Given the description of an element on the screen output the (x, y) to click on. 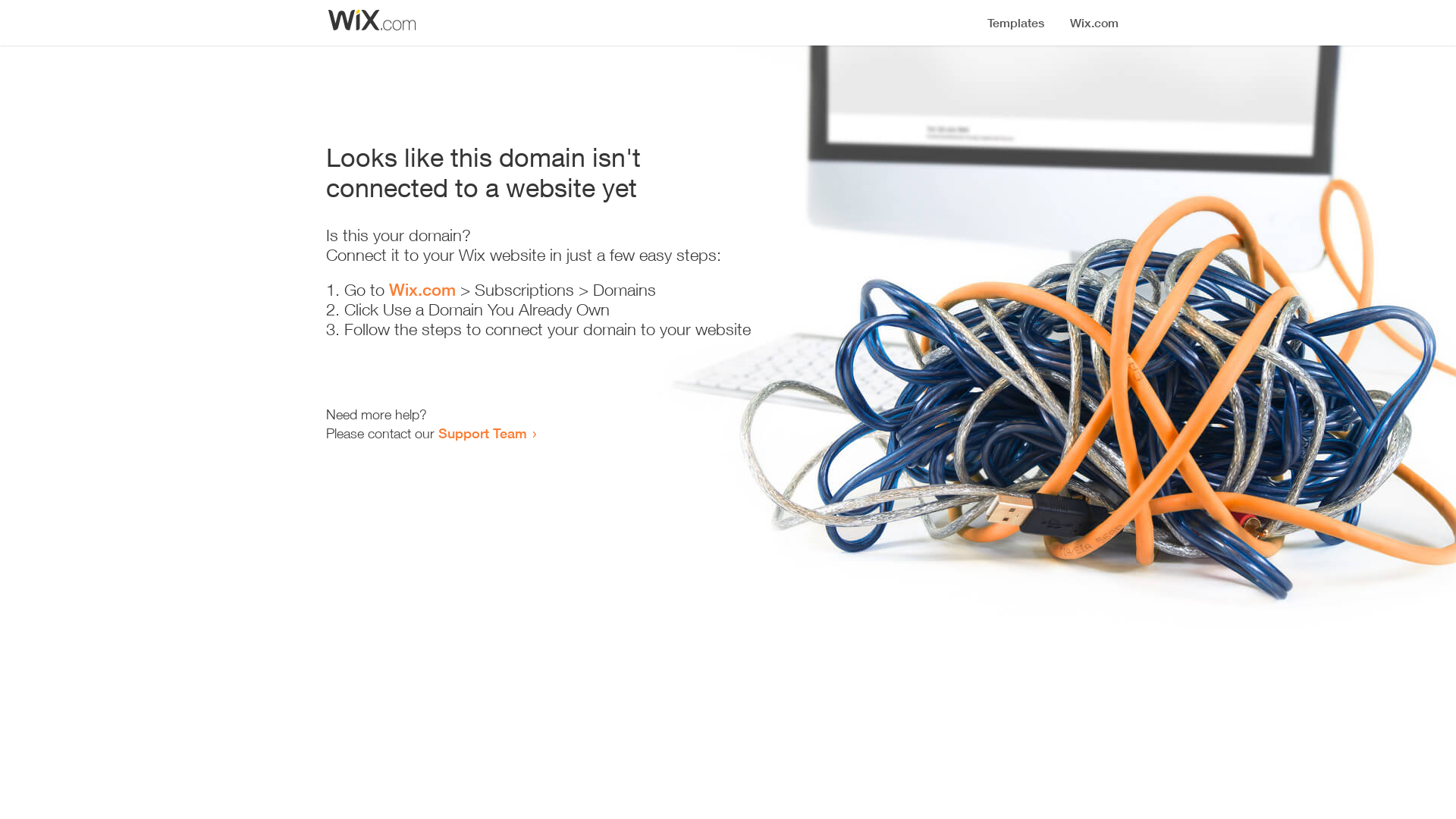
Wix.com Element type: text (422, 289)
Support Team Element type: text (482, 432)
